Given the description of an element on the screen output the (x, y) to click on. 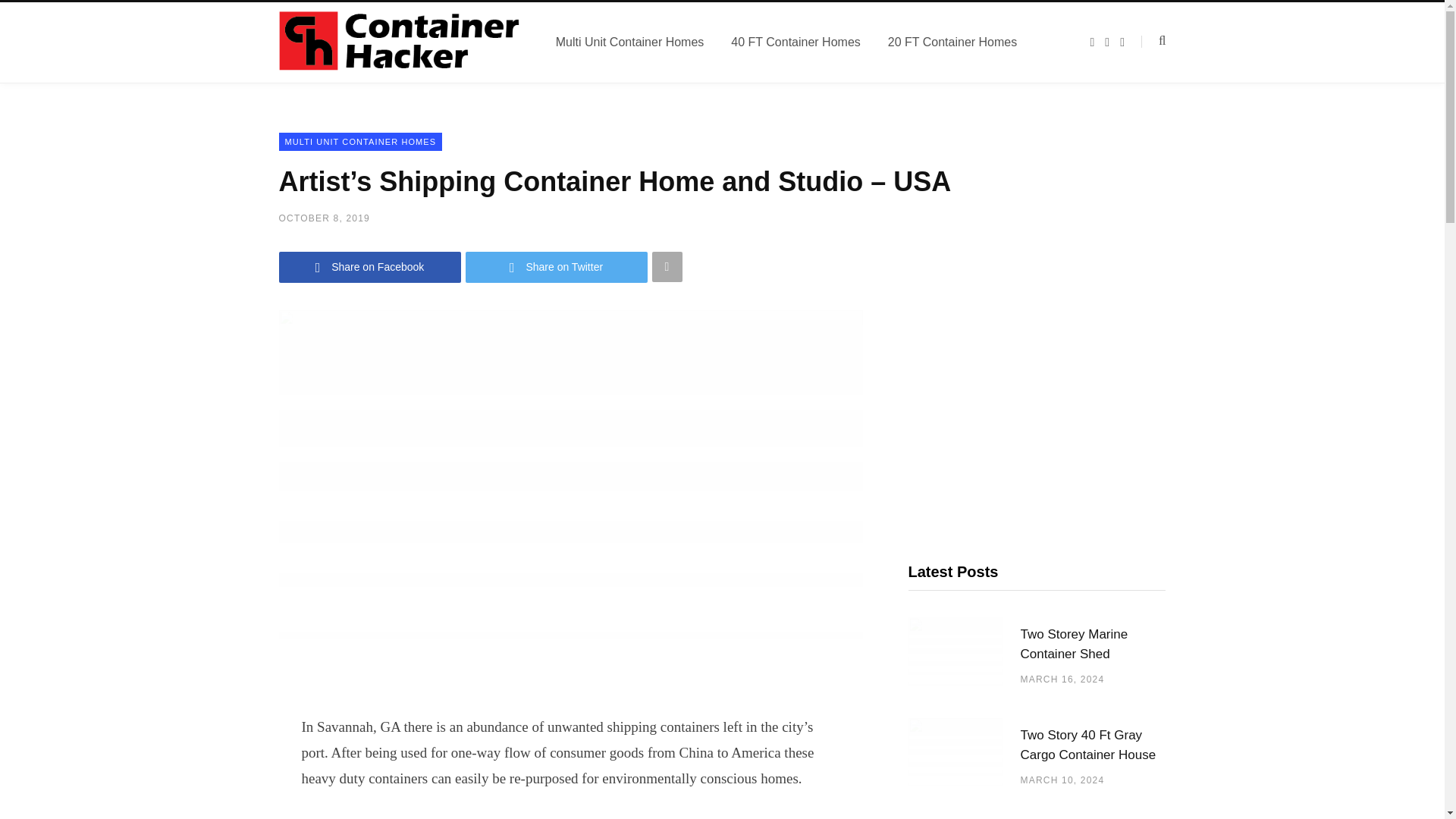
Container Hacker (399, 42)
MARCH 16, 2024 (1062, 679)
OCTOBER 8, 2019 (325, 217)
Container Home made with 3 Shipping Containers (1093, 818)
MARCH 10, 2024 (1062, 779)
20 FT Container Homes (952, 41)
Multi Unit Container Homes (629, 41)
Search (1153, 41)
Share on Facebook (370, 266)
Share on Twitter (556, 266)
